Given the description of an element on the screen output the (x, y) to click on. 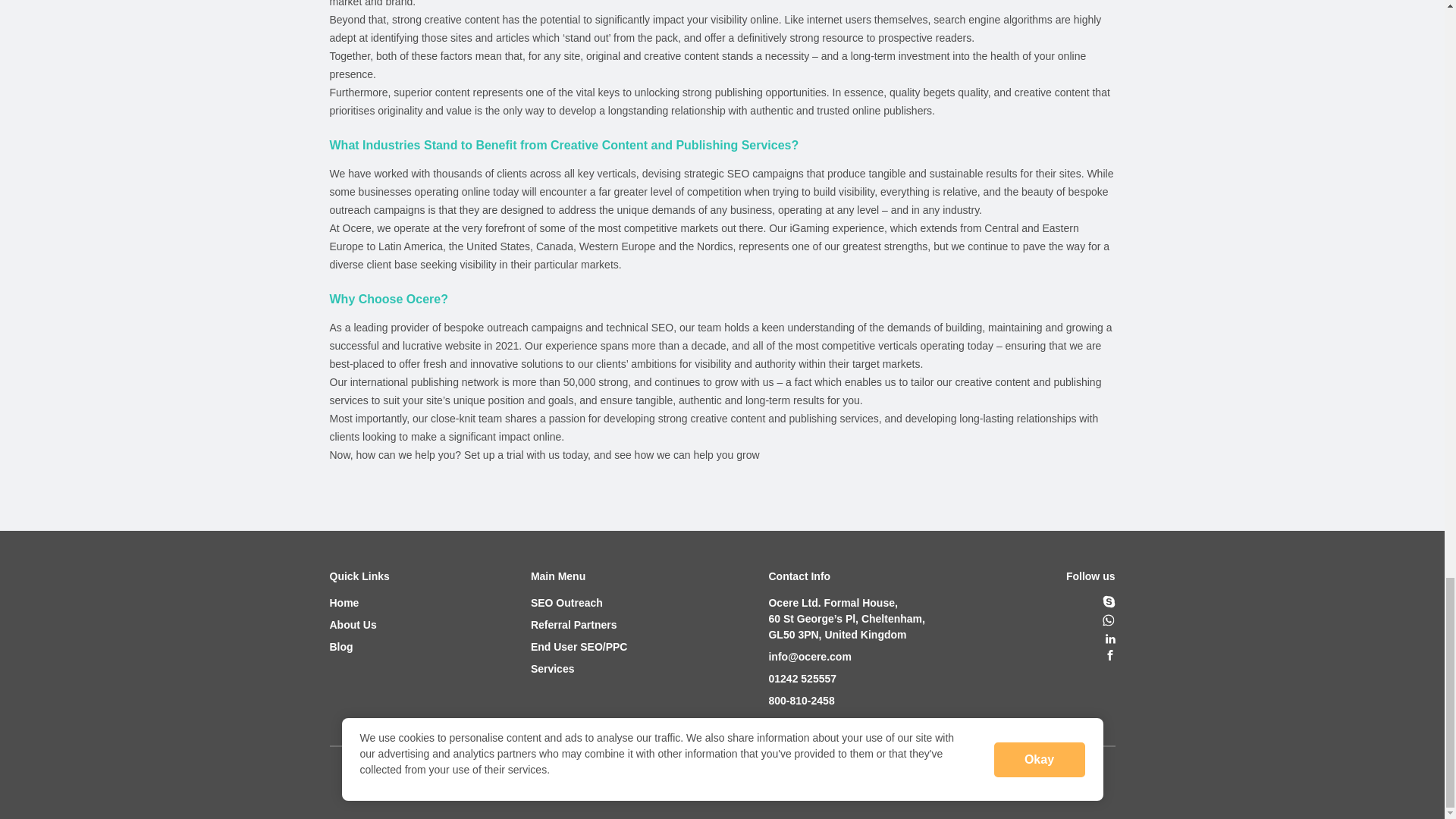
About Us (358, 625)
01242 525557 (846, 678)
Referral Partners (579, 625)
Home (358, 602)
Blog (358, 647)
SEO Outreach (579, 602)
800-810-2458 (846, 700)
Services (579, 668)
